Given the description of an element on the screen output the (x, y) to click on. 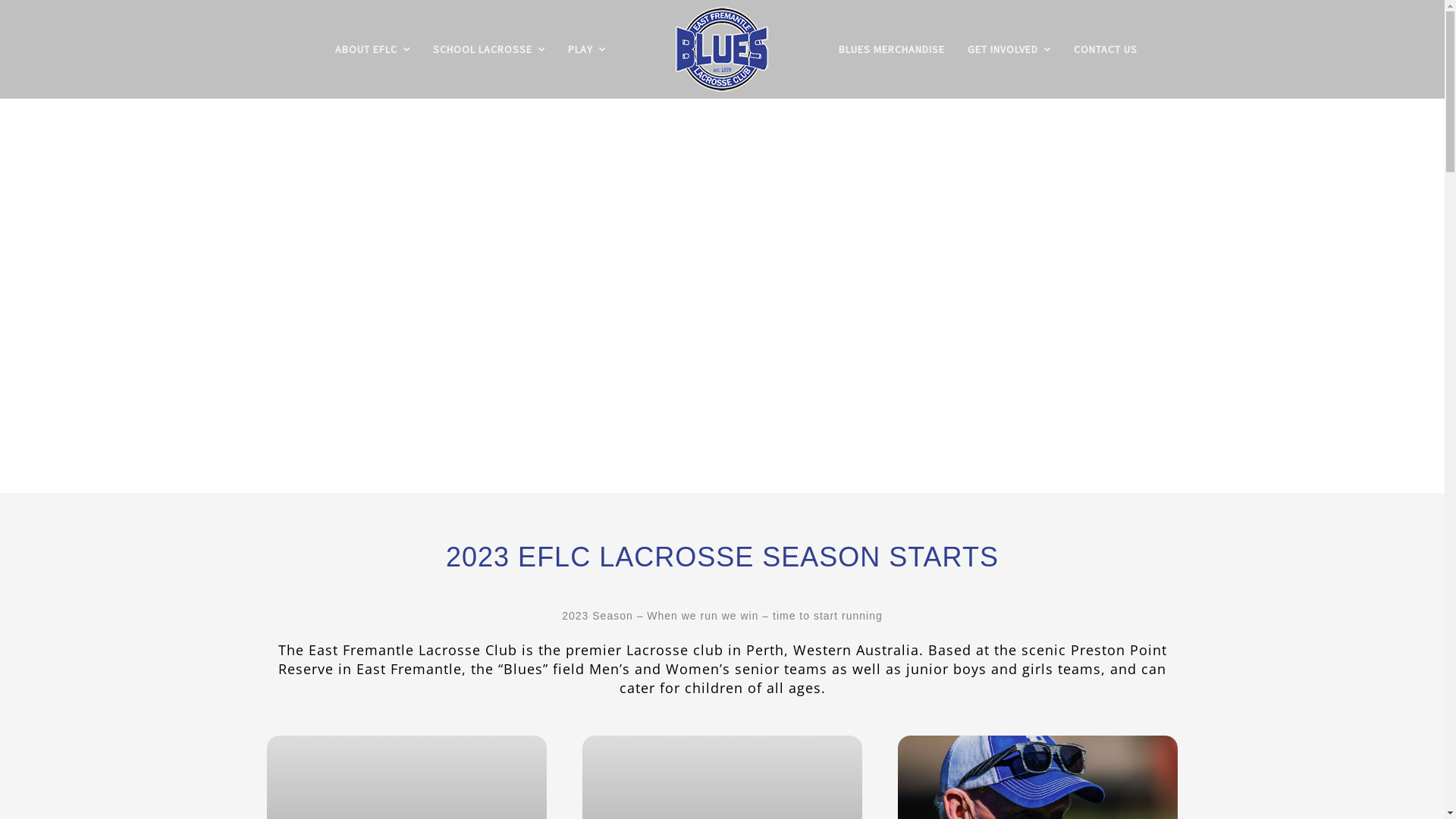
ABOUT EFLC Element type: text (372, 49)
PLAY Element type: text (586, 49)
SCHOOL LACROSSE Element type: text (488, 49)
GET INVOLVED Element type: text (1009, 49)
BLUES MERCHANDISE Element type: text (891, 49)
CONTACT US Element type: text (1105, 49)
